Given the description of an element on the screen output the (x, y) to click on. 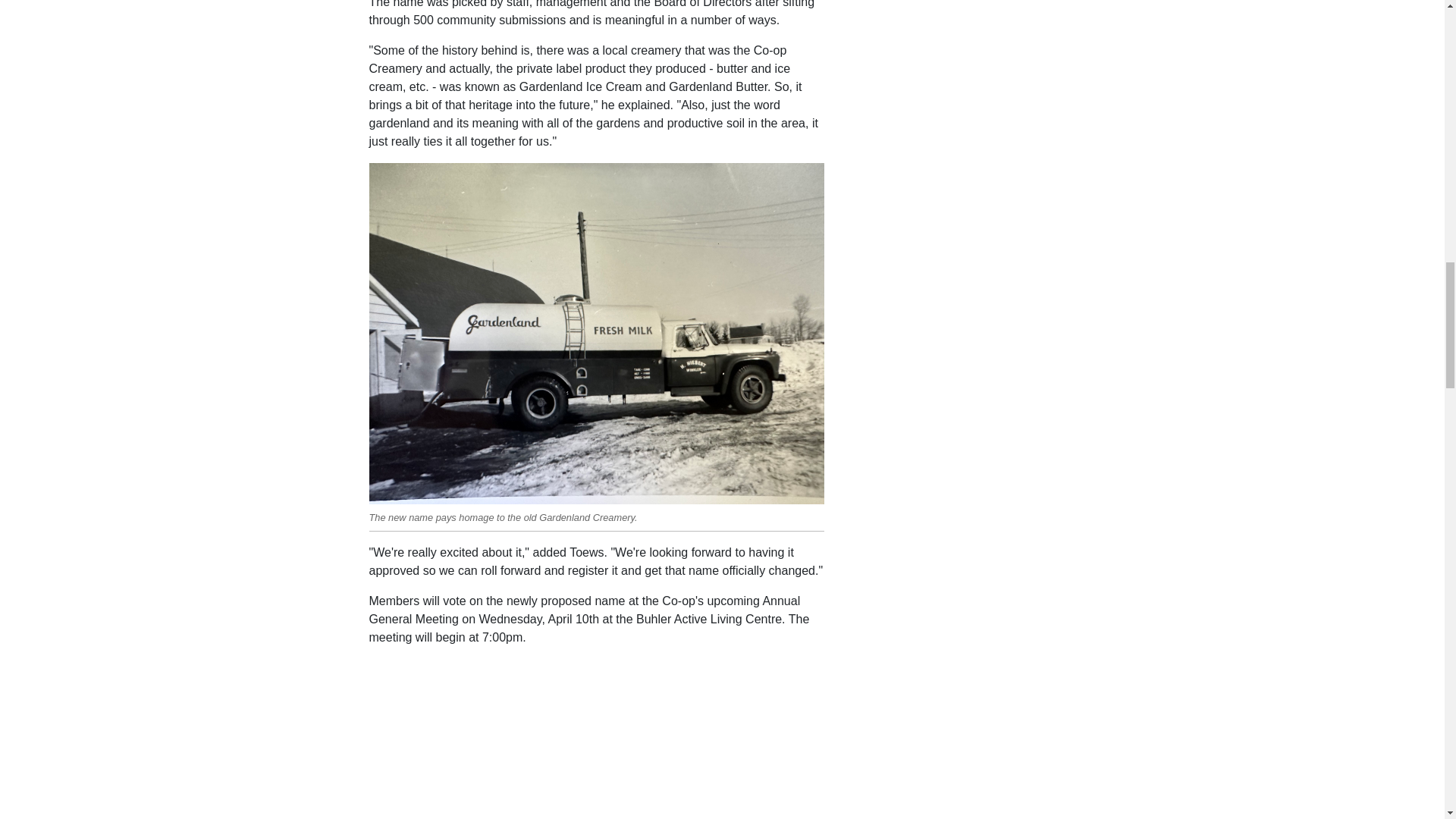
YouTube video player (580, 754)
